Given the description of an element on the screen output the (x, y) to click on. 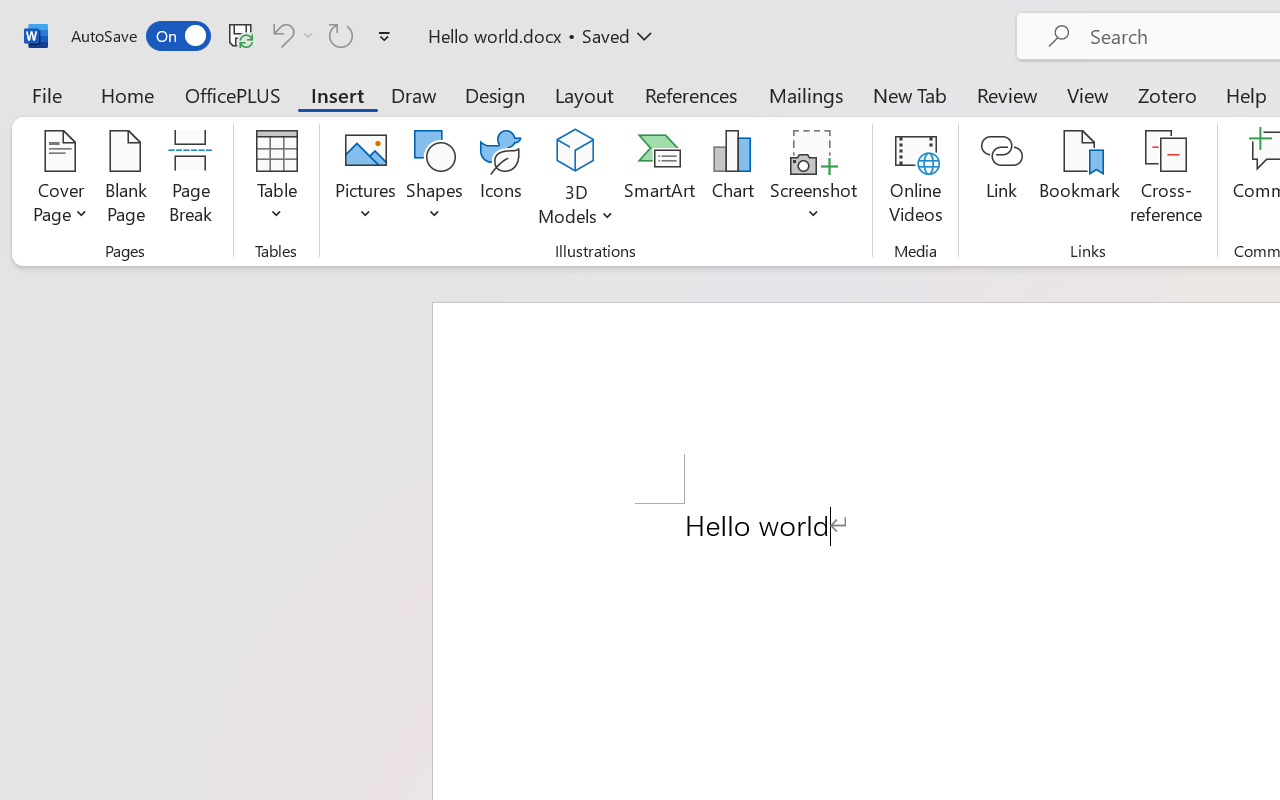
OfficePLUS (233, 94)
File Tab (46, 94)
Shapes (435, 179)
SmartArt... (659, 179)
Cover Page (60, 179)
AutoSave (140, 35)
References (690, 94)
Insert (337, 94)
Online Videos... (915, 179)
Screenshot (813, 179)
